Given the description of an element on the screen output the (x, y) to click on. 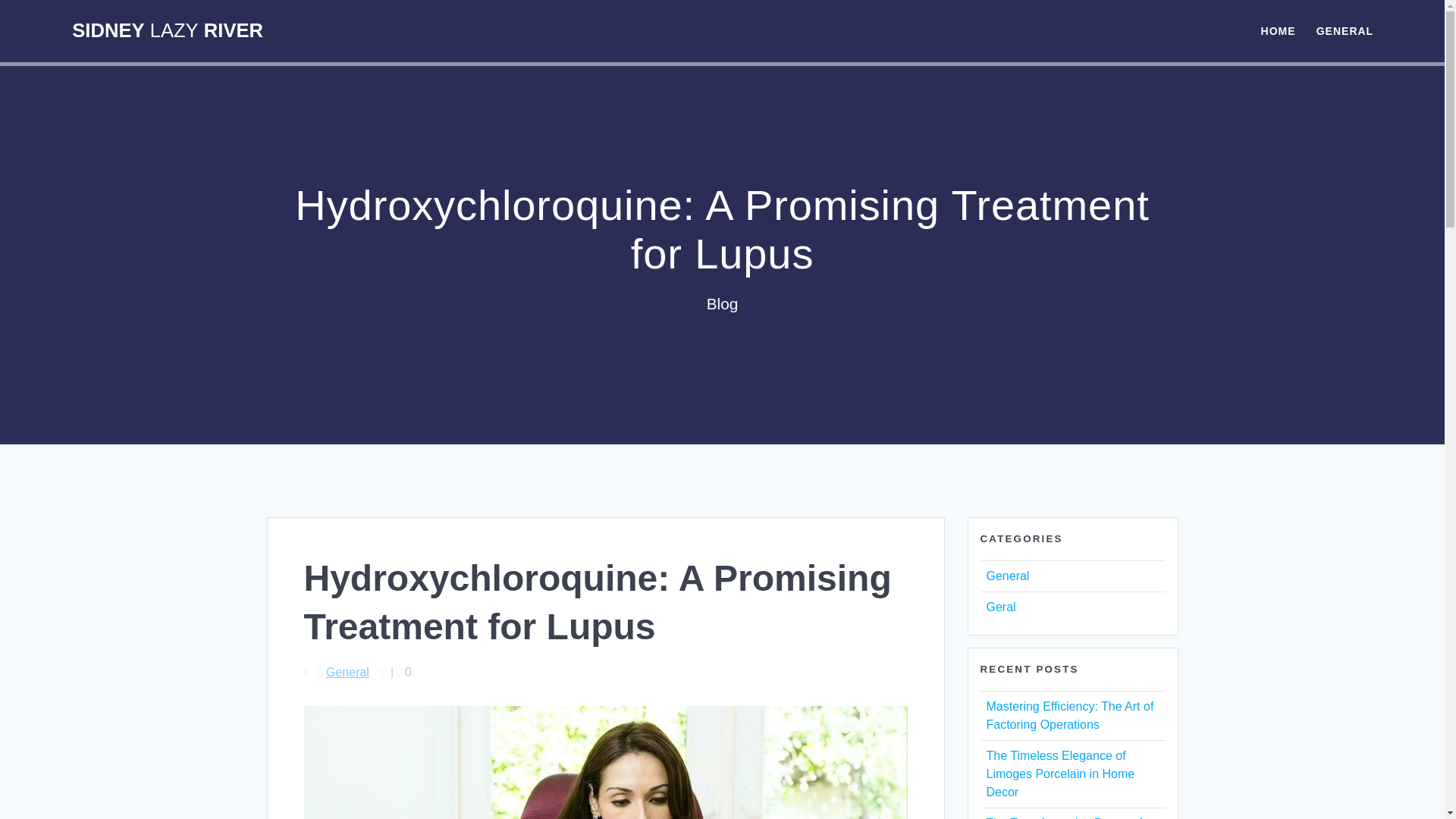
Mastering Efficiency: The Art of Factoring Operations (1069, 715)
General (1007, 575)
SIDNEY LAZY RIVER (167, 30)
General (347, 671)
HOME (1277, 30)
The Transformative Power of Cosmetic Tattoo Services (1063, 817)
Geral (999, 606)
The Timeless Elegance of Limoges Porcelain in Home Decor (1059, 773)
GENERAL (1344, 30)
